Given the description of an element on the screen output the (x, y) to click on. 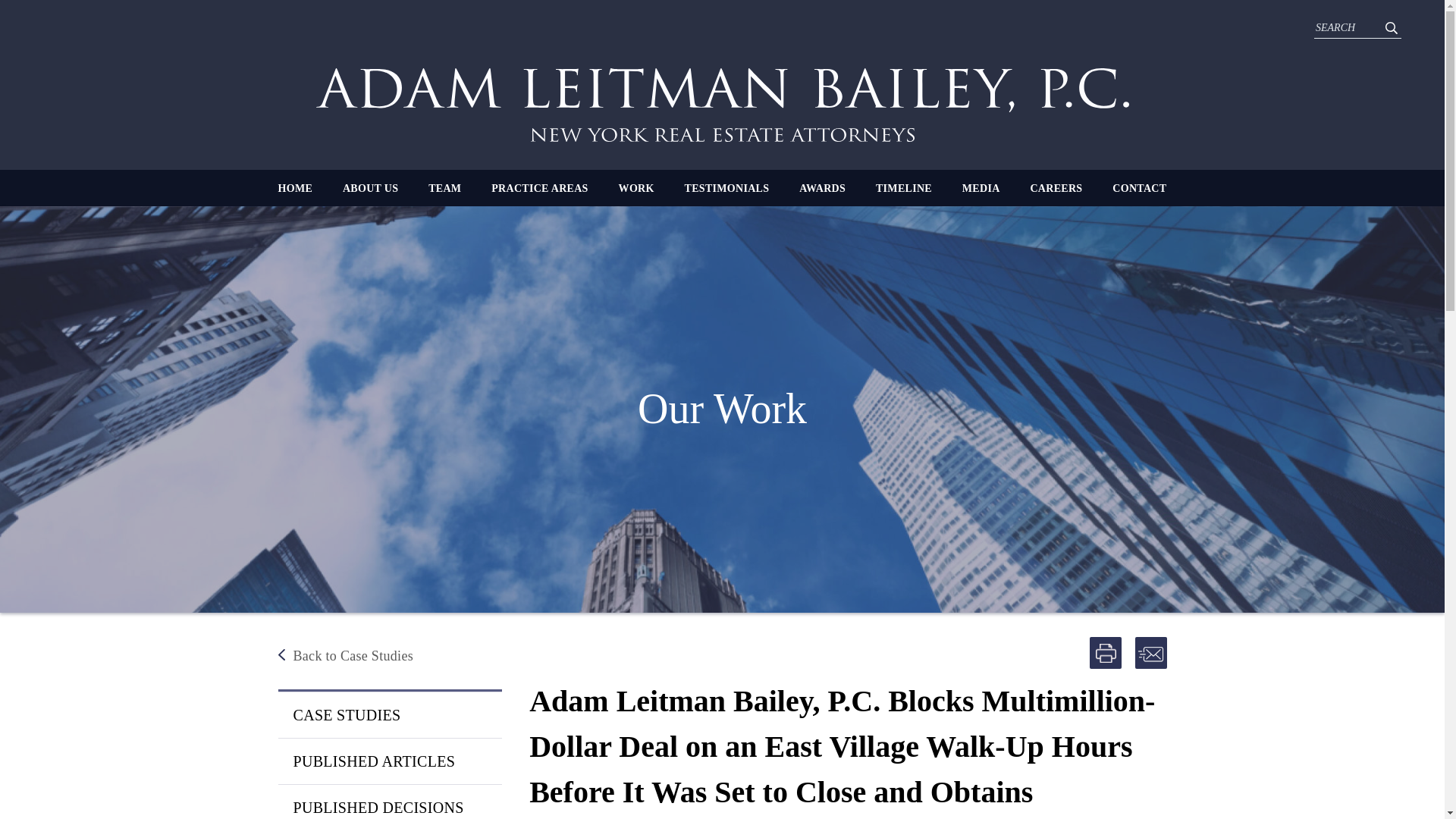
CASE STUDIES (389, 714)
TESTIMONIALS (727, 187)
Back to Case Studies (389, 656)
TEAM (444, 187)
CAREERS (1055, 187)
MEDIA (981, 187)
HOME (295, 187)
CONTACT (1139, 187)
WORK (635, 187)
AWARDS (822, 187)
